Given the description of an element on the screen output the (x, y) to click on. 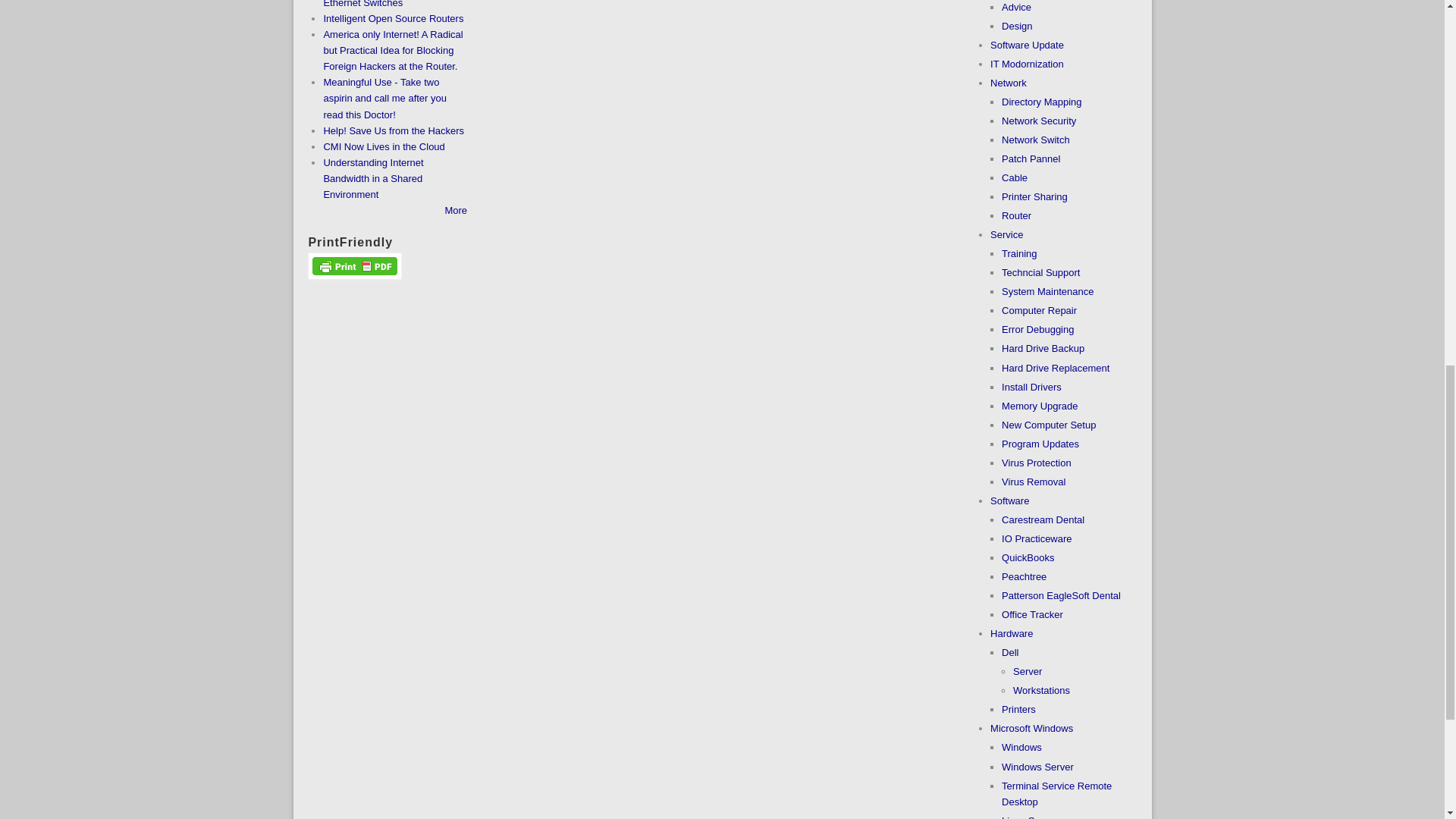
Understanding Internet Bandwidth in a Shared Environment (373, 178)
Intelligent Open Source Routers (393, 18)
Help! Save Us from the Hackers (393, 130)
More (455, 210)
CMI Now Lives in the Cloud (383, 146)
Read the latest blog entries. (455, 210)
